Given the description of an element on the screen output the (x, y) to click on. 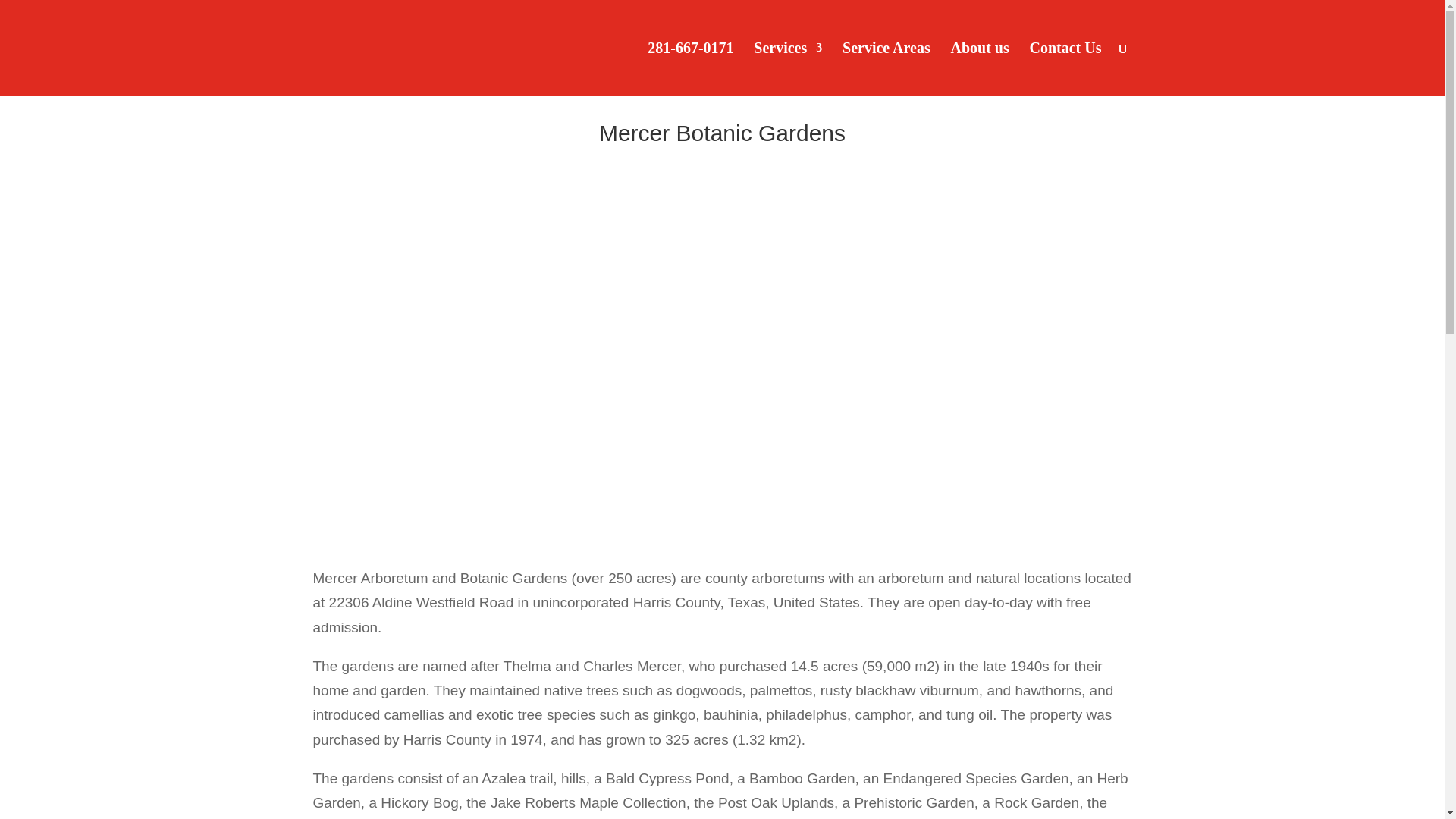
About us (979, 68)
Services (788, 68)
Service Areas (886, 68)
Contact Us (1065, 68)
281-667-0171 (690, 68)
